Given the description of an element on the screen output the (x, y) to click on. 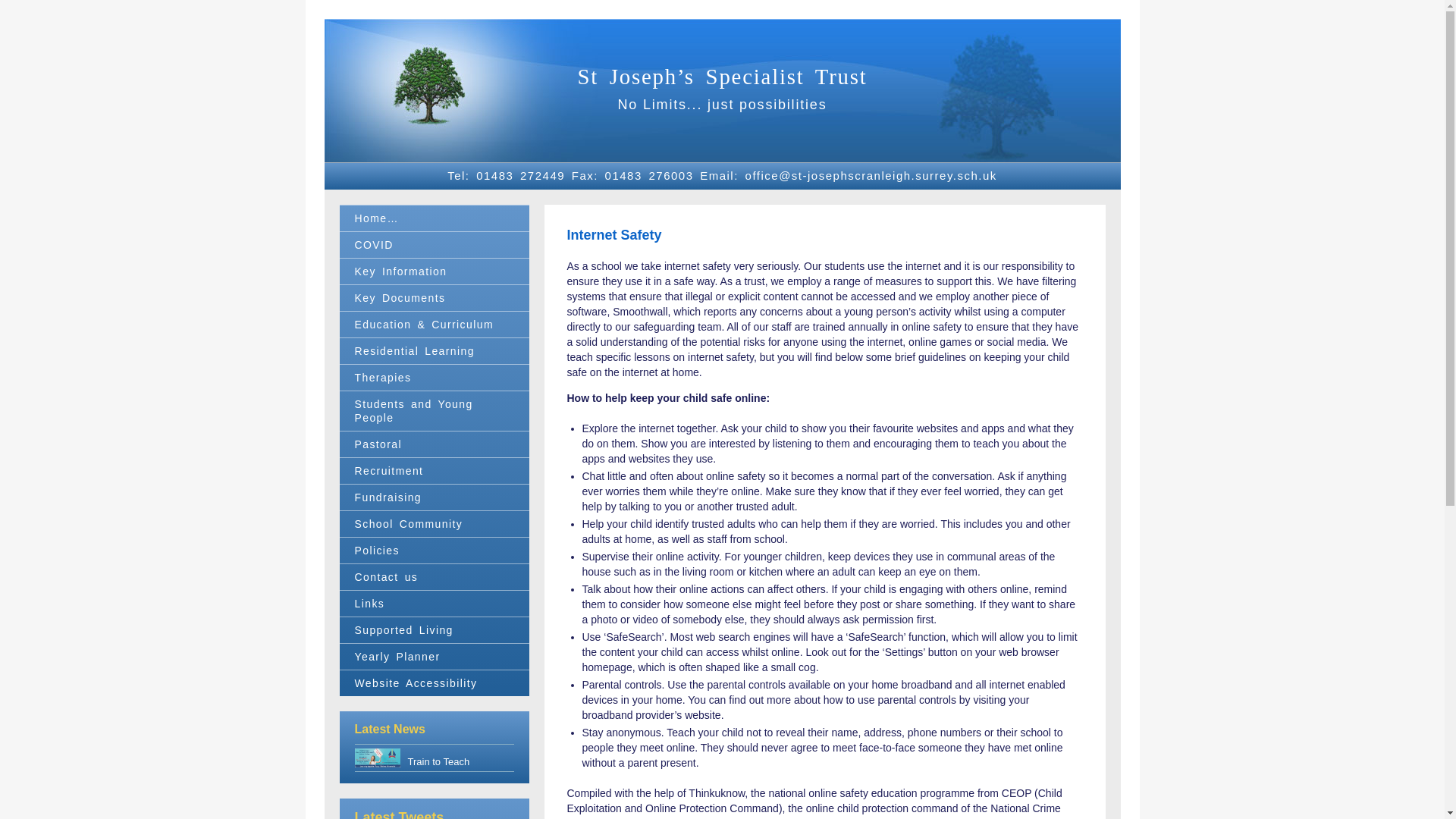
COVID (434, 243)
Key Information (434, 270)
Key Documents (434, 297)
